Given the description of an element on the screen output the (x, y) to click on. 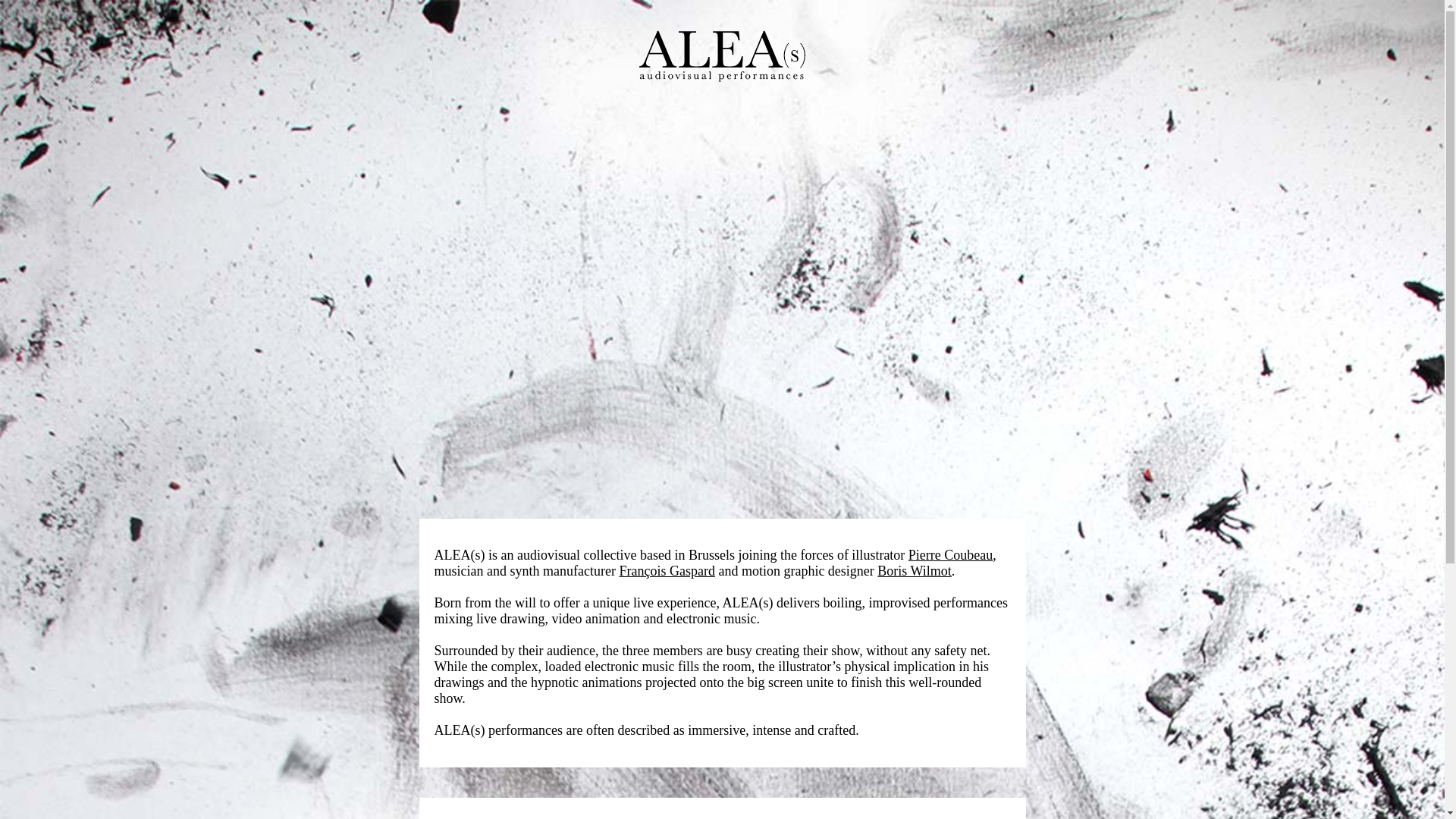
Boris Wilmot Element type: text (913, 570)
Pierre Coubeau Element type: text (950, 554)
